Given the description of an element on the screen output the (x, y) to click on. 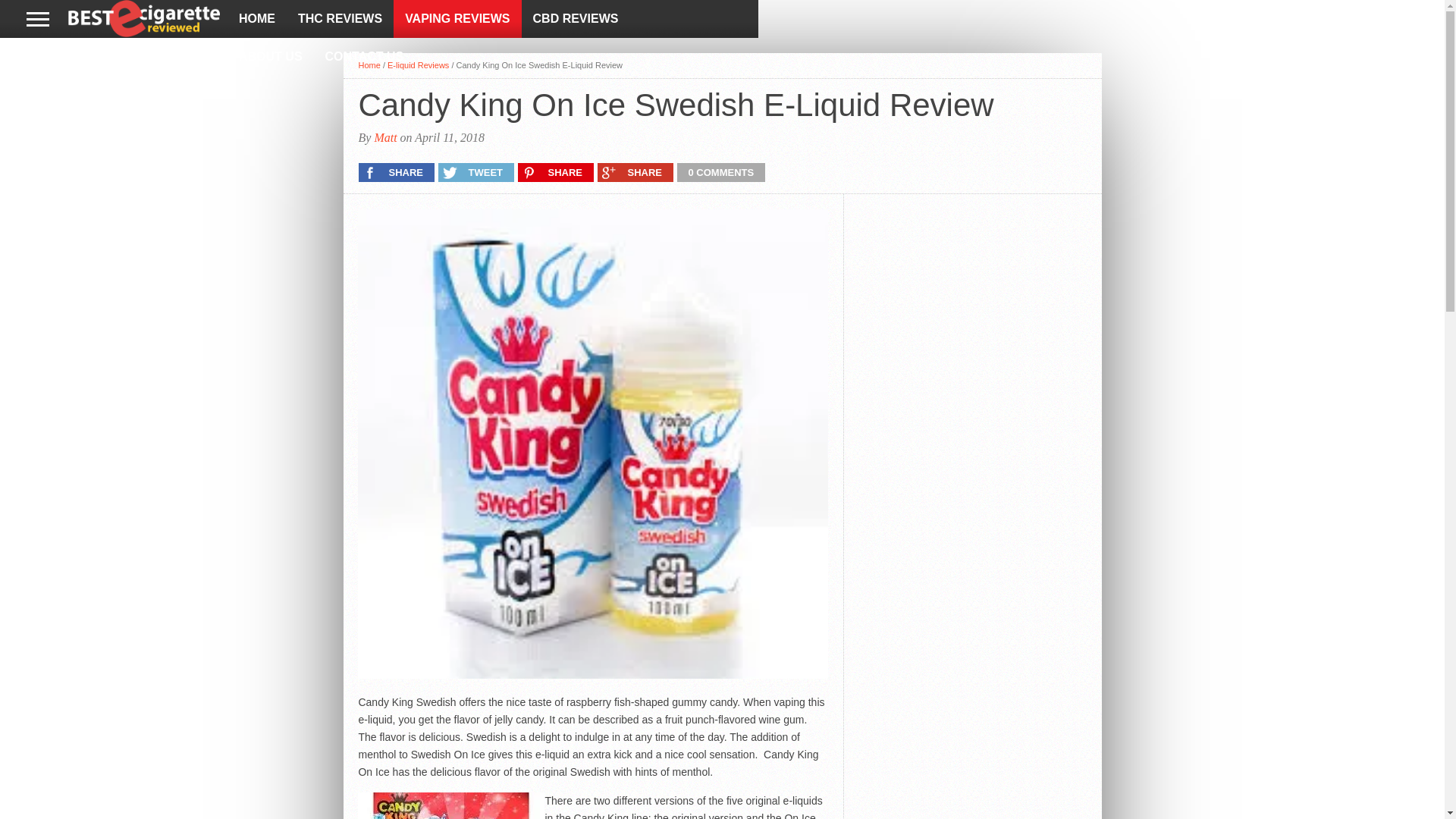
E-liquid Reviews (417, 64)
CBD REVIEWS (575, 18)
ABOUT US (270, 56)
Posts by Matt (385, 137)
Matt (385, 137)
CONTACT US (364, 56)
THC REVIEWS (339, 18)
VAPING REVIEWS (457, 18)
HOME (256, 18)
Home (369, 64)
